Given the description of an element on the screen output the (x, y) to click on. 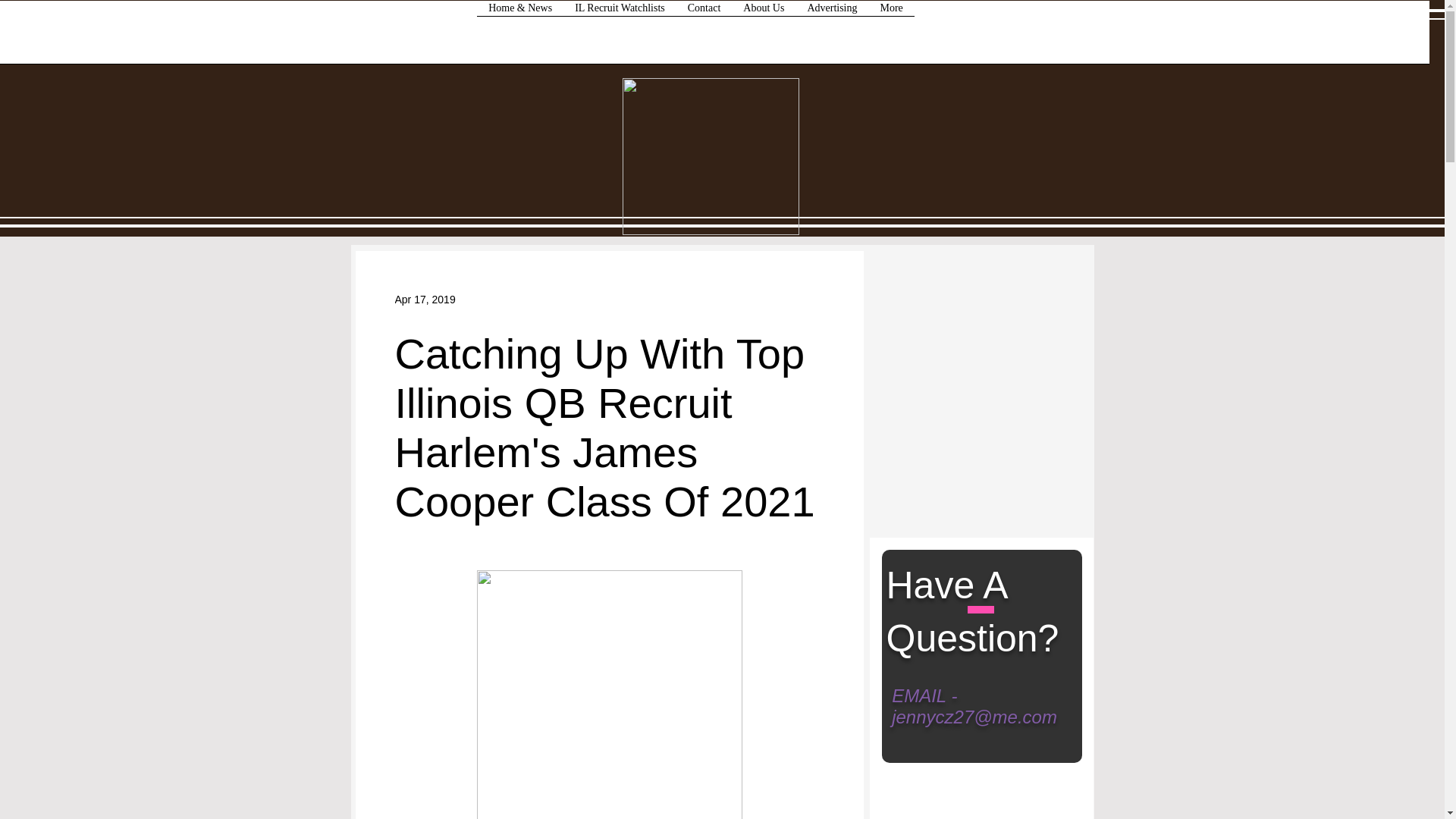
IL Recruit Watchlists (620, 36)
Twitter Follow (932, 289)
Advertising (830, 36)
Apr 17, 2019 (424, 298)
